Given the description of an element on the screen output the (x, y) to click on. 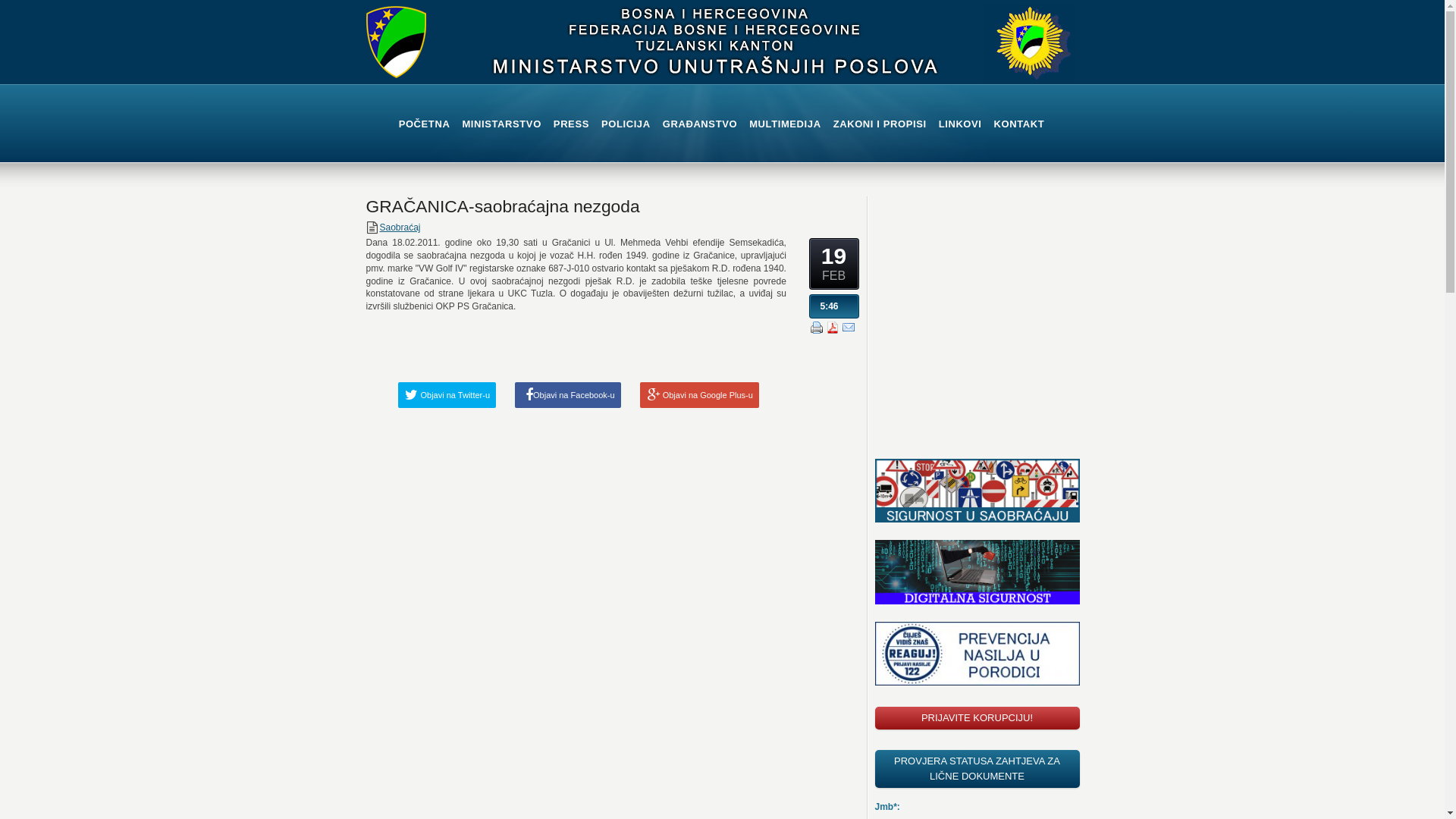
PRIJAVITE KORUPCIJU! Element type: text (977, 717)
POLICIJA Element type: text (625, 123)
Objavi na Google Plus-u Element type: text (699, 394)
MULTIMEDIJA Element type: text (784, 123)
KONTAKT Element type: text (1019, 123)
ZAKONI I PROPISI Element type: text (879, 123)
LINKOVI Element type: text (960, 123)
PRESS Element type: text (571, 123)
Objavi na Facebook-u Element type: text (567, 394)
MINISTARSTVO Element type: text (500, 123)
Objavi na Twitter-u Element type: text (446, 394)
